Given the description of an element on the screen output the (x, y) to click on. 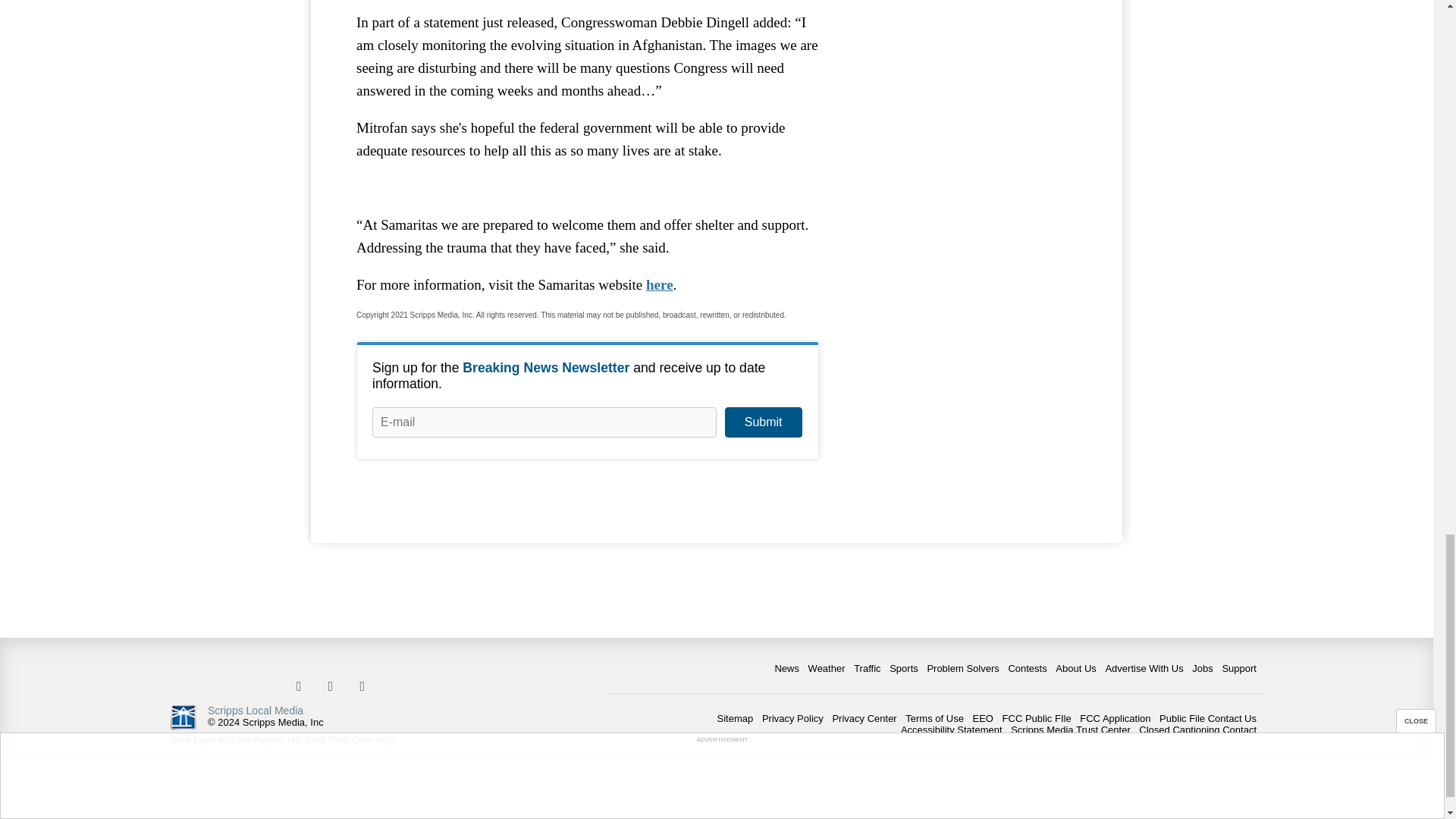
Submit (763, 422)
